Given the description of an element on the screen output the (x, y) to click on. 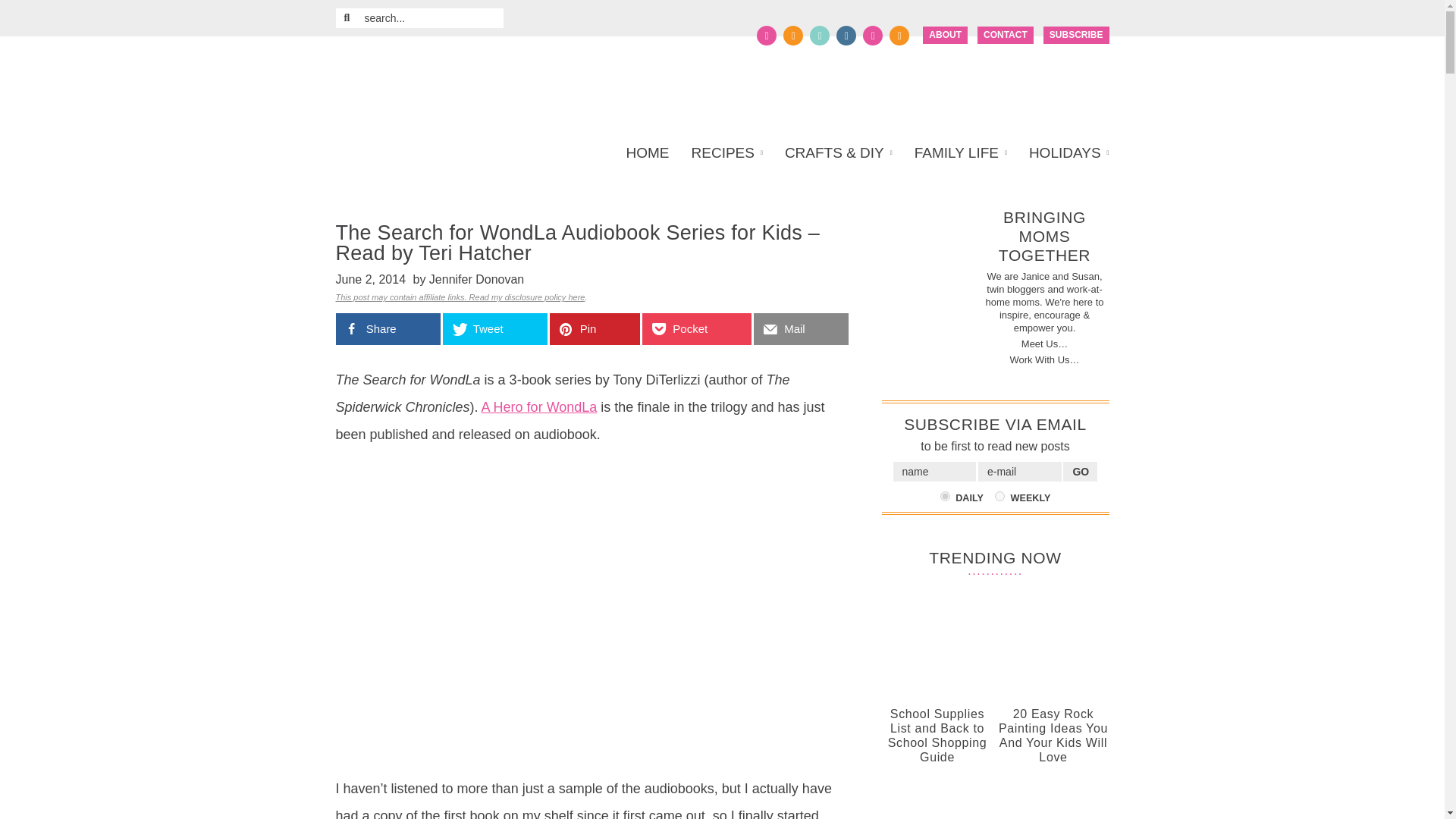
Weekly (999, 496)
Follow 5 Minutes For Mom on Instagram (845, 35)
Follow 5 Minutes For Mom via RSS (898, 35)
ABOUT (945, 35)
Go (1079, 471)
Daily (945, 496)
SUBSCRIBE (1076, 35)
HOME (652, 153)
Follow 5 Minutes For Mom on YouTube (872, 35)
